Given the description of an element on the screen output the (x, y) to click on. 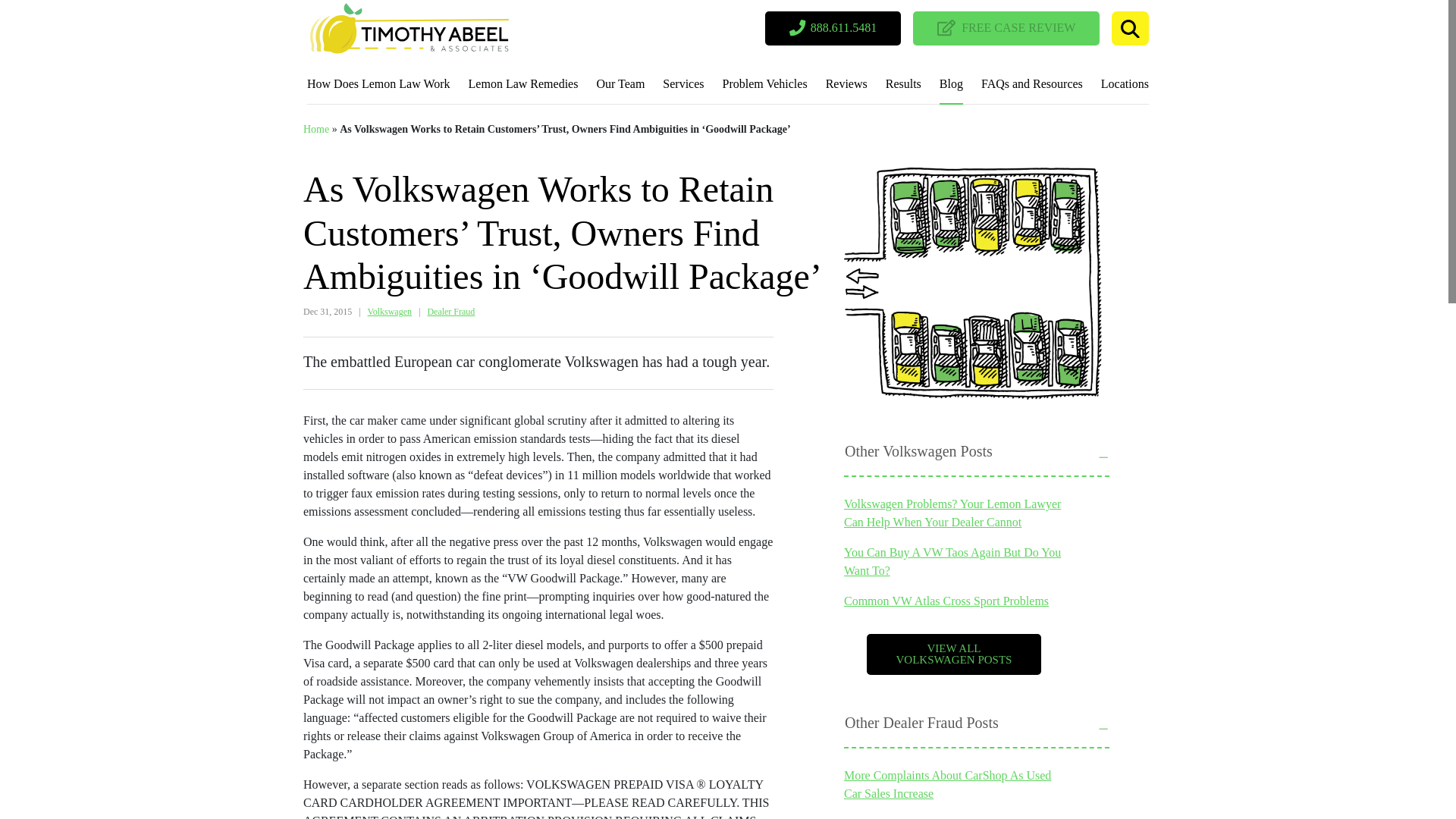
Search (1130, 28)
888.611.5481 (832, 28)
Lemon Law Remedies (523, 86)
How Does Lemon Law Work (378, 86)
FREE CASE REVIEW (1005, 28)
